Given the description of an element on the screen output the (x, y) to click on. 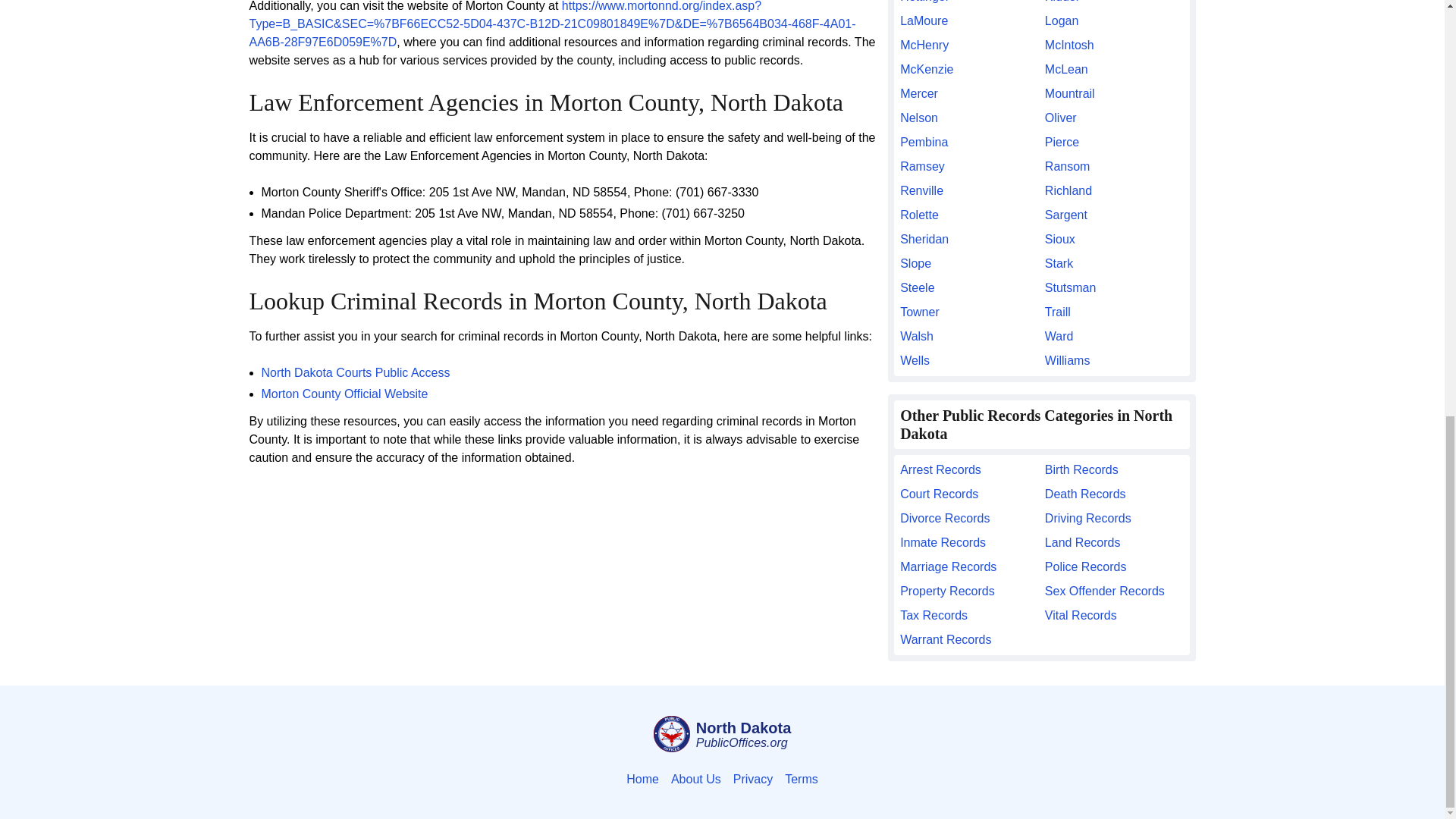
Hettinger (969, 2)
North Dakota Courts Public Access (354, 372)
Kidder (1114, 2)
LaMoure (969, 21)
Morton County Official Website (344, 393)
